Given the description of an element on the screen output the (x, y) to click on. 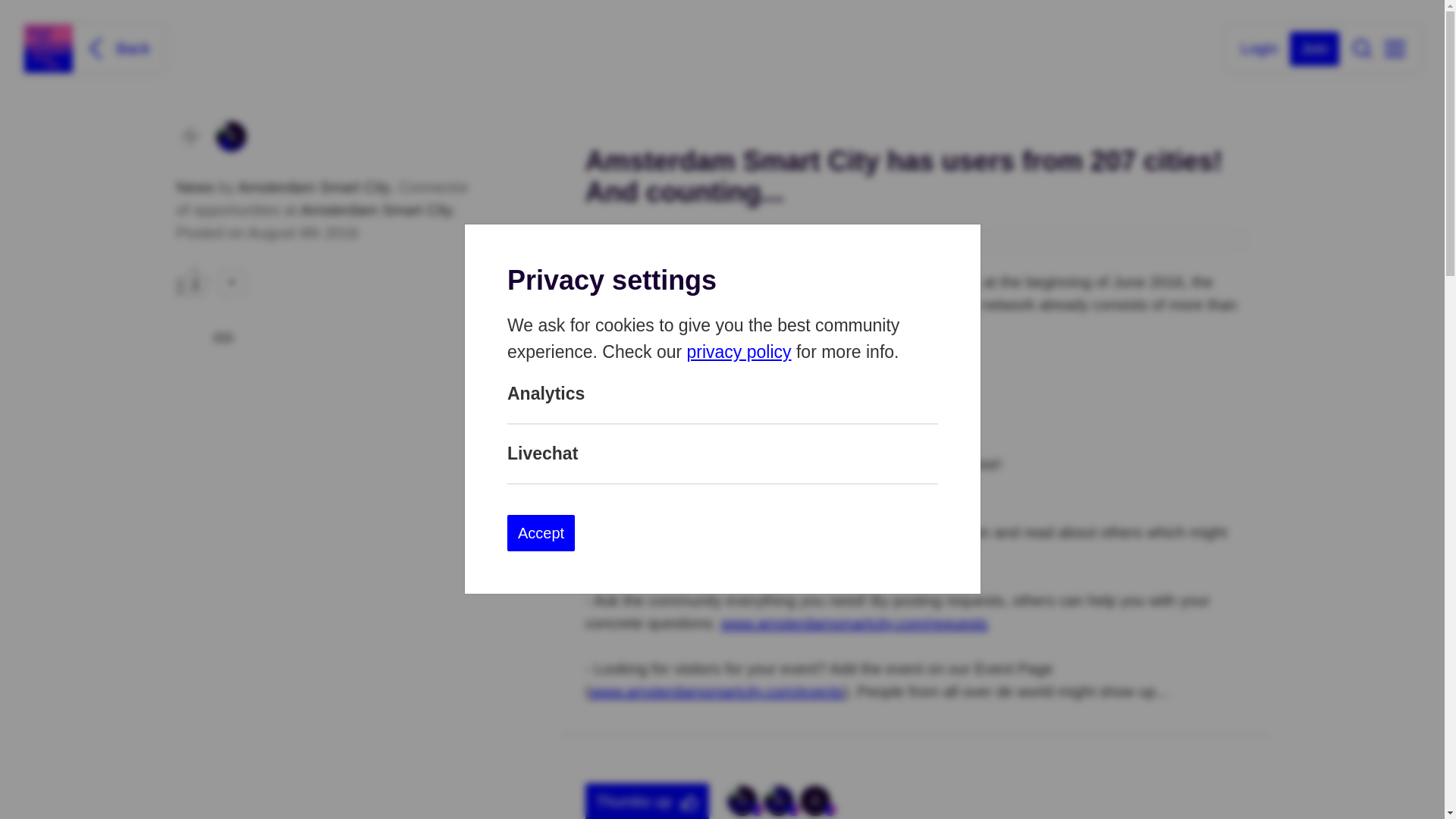
Amsterdam Smart City (230, 136)
Back (115, 48)
Rogier Havelaar (777, 800)
News (197, 187)
Thumbs up (647, 800)
Anonymous (814, 800)
Amsterdam Smart City (314, 187)
Search (1362, 47)
Join (1314, 48)
Register (1314, 48)
